Given the description of an element on the screen output the (x, y) to click on. 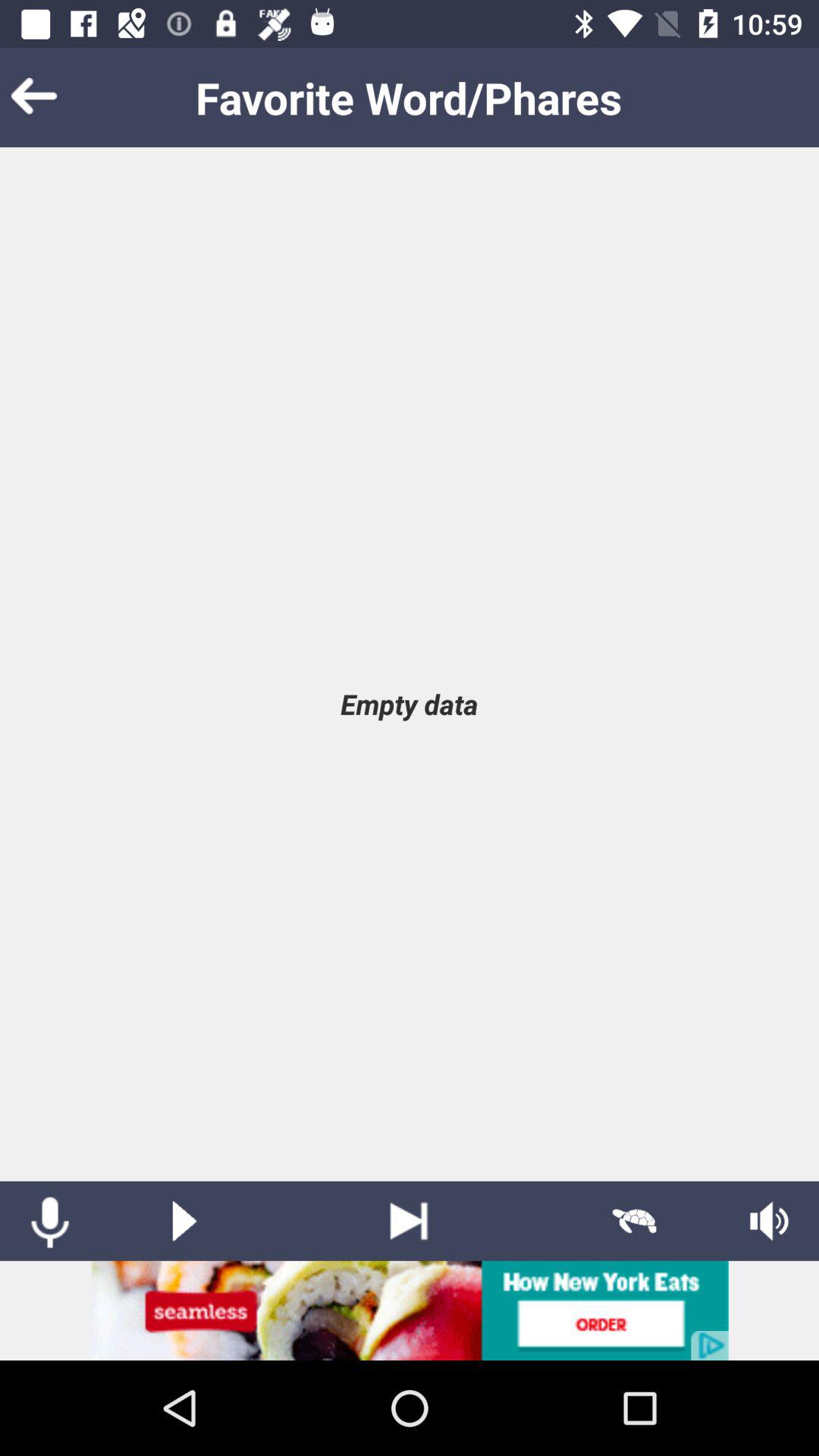
adjust volume (769, 1220)
